Given the description of an element on the screen output the (x, y) to click on. 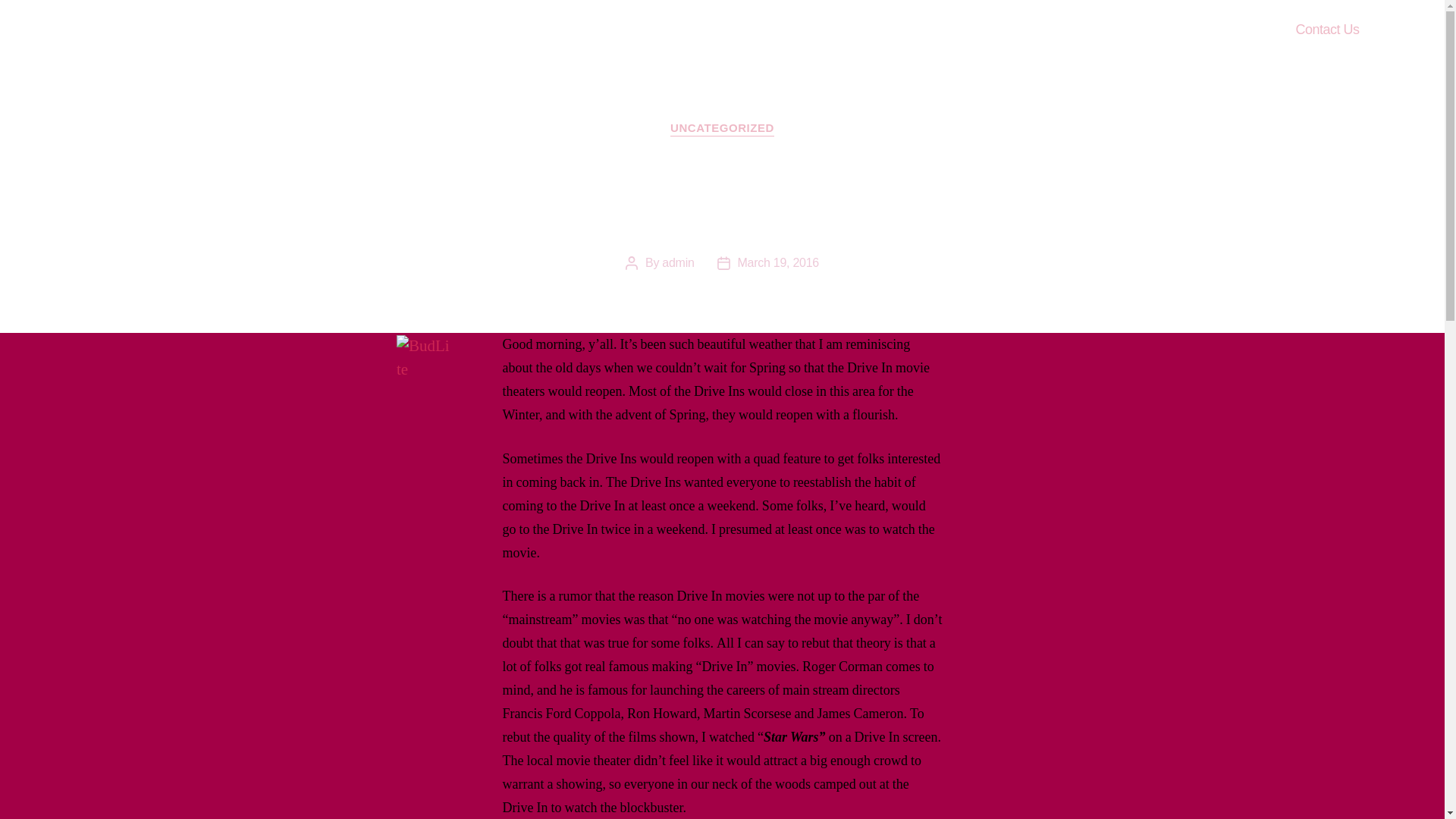
admin (678, 262)
Tales From The Trailer Park (192, 30)
March 19, 2016 (778, 262)
Contact Us (1326, 30)
UNCATEGORIZED (721, 128)
